Given the description of an element on the screen output the (x, y) to click on. 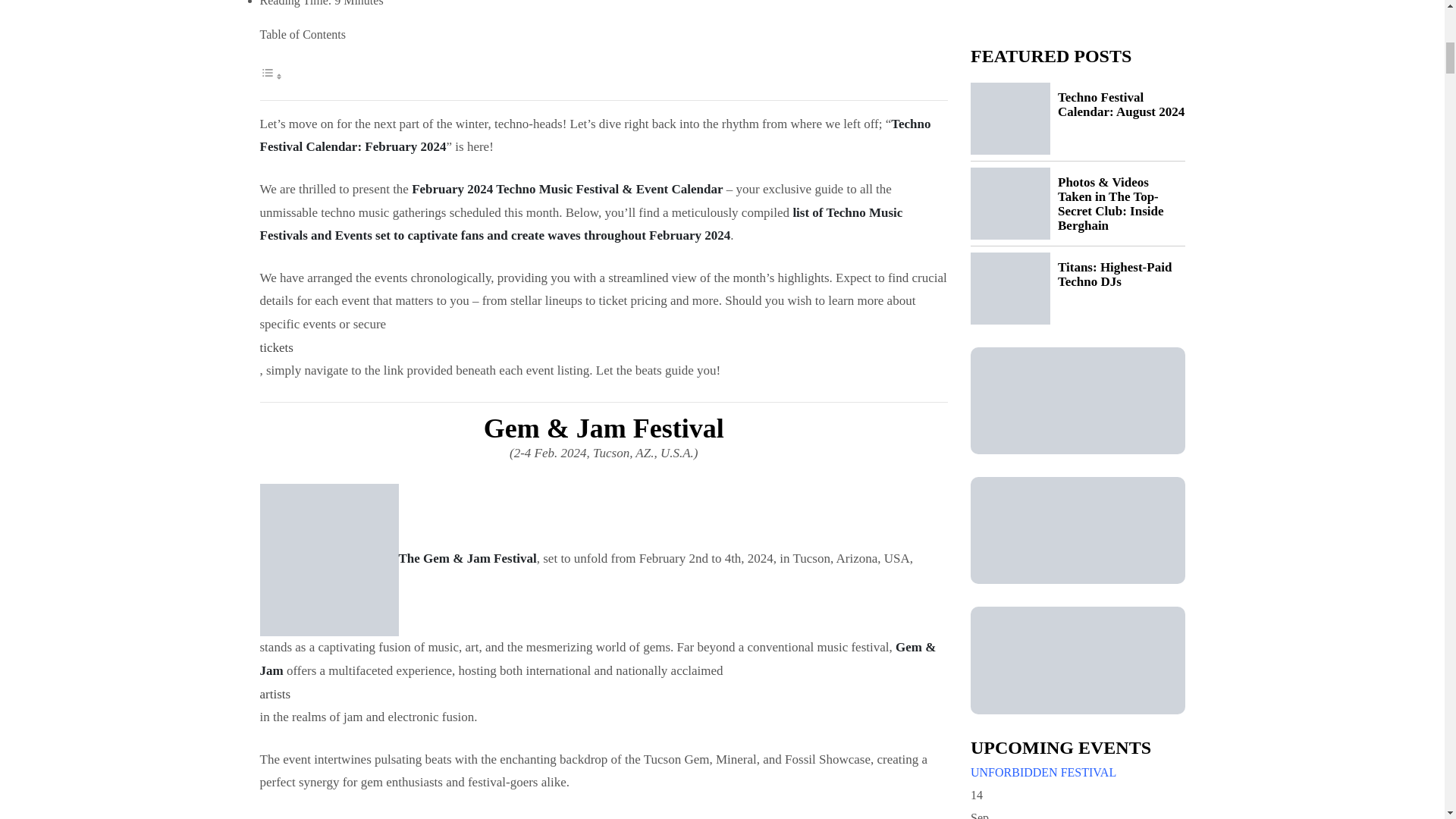
artists (603, 694)
Techno Festival Calendar: February 2024 1 (328, 560)
tickets (603, 348)
